Given the description of an element on the screen output the (x, y) to click on. 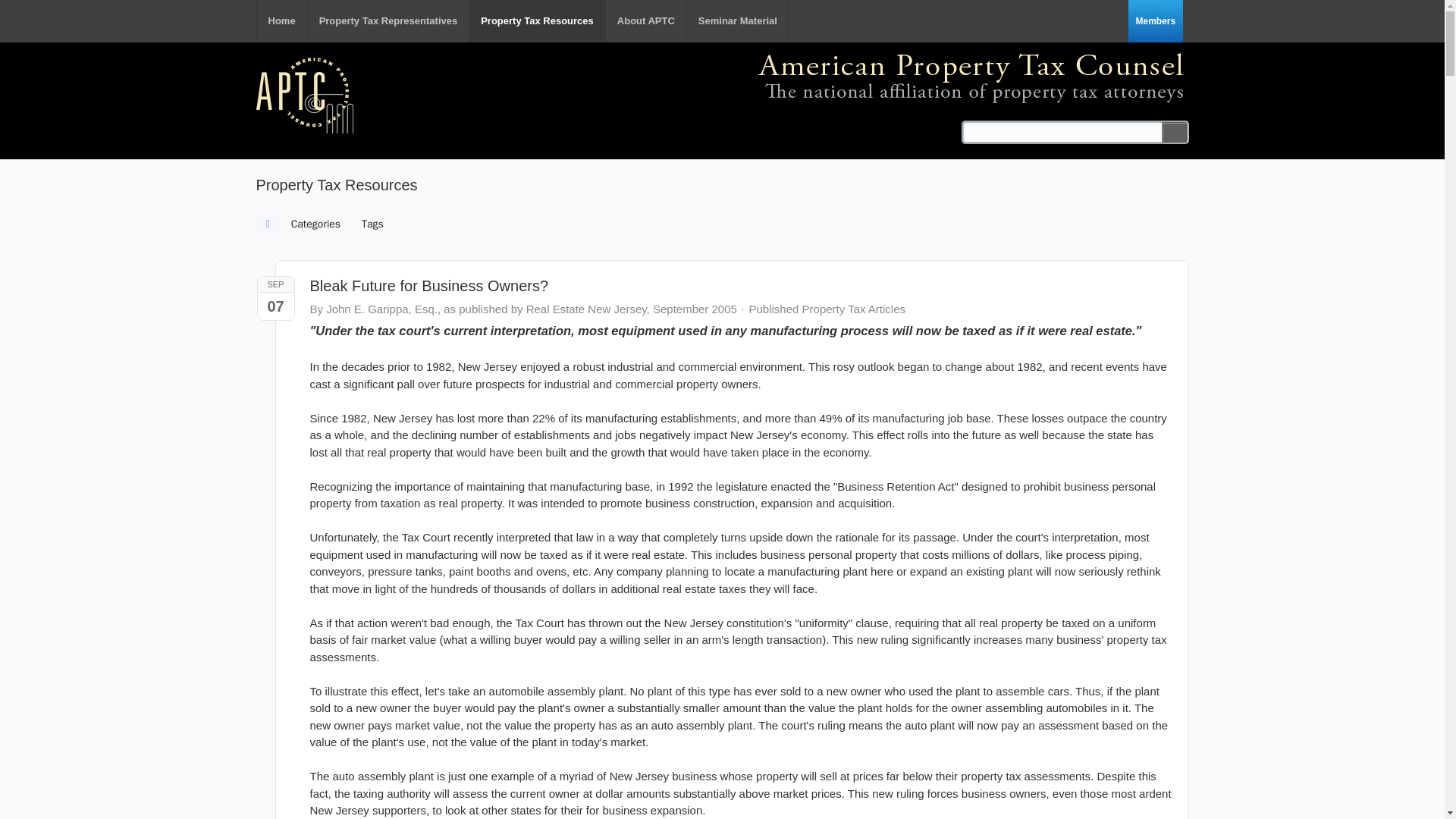
Members (1155, 21)
Bleak Future for Business Owners? (428, 285)
Tags (372, 223)
About APTC (645, 21)
Seminar Material (738, 21)
Published Property Tax Articles (826, 309)
Tags (372, 223)
Categories (315, 223)
Home (280, 21)
